Given the description of an element on the screen output the (x, y) to click on. 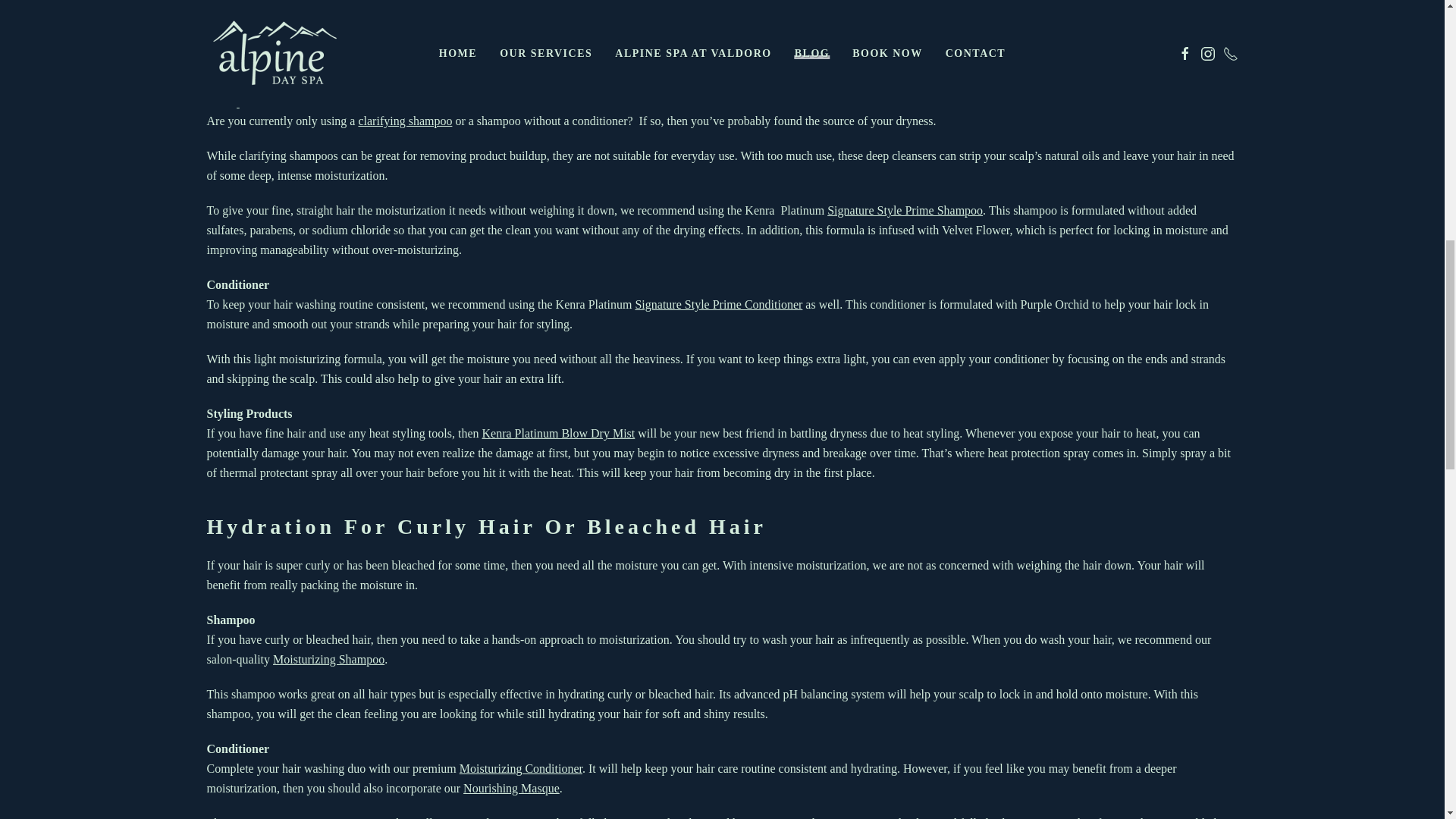
Signature Style Prime Shampoo (904, 210)
Signature Style Prime Conditioner (718, 304)
clarifying shampoo (404, 120)
Kenra Platinum Blow Dry Mist (557, 432)
